Given the description of an element on the screen output the (x, y) to click on. 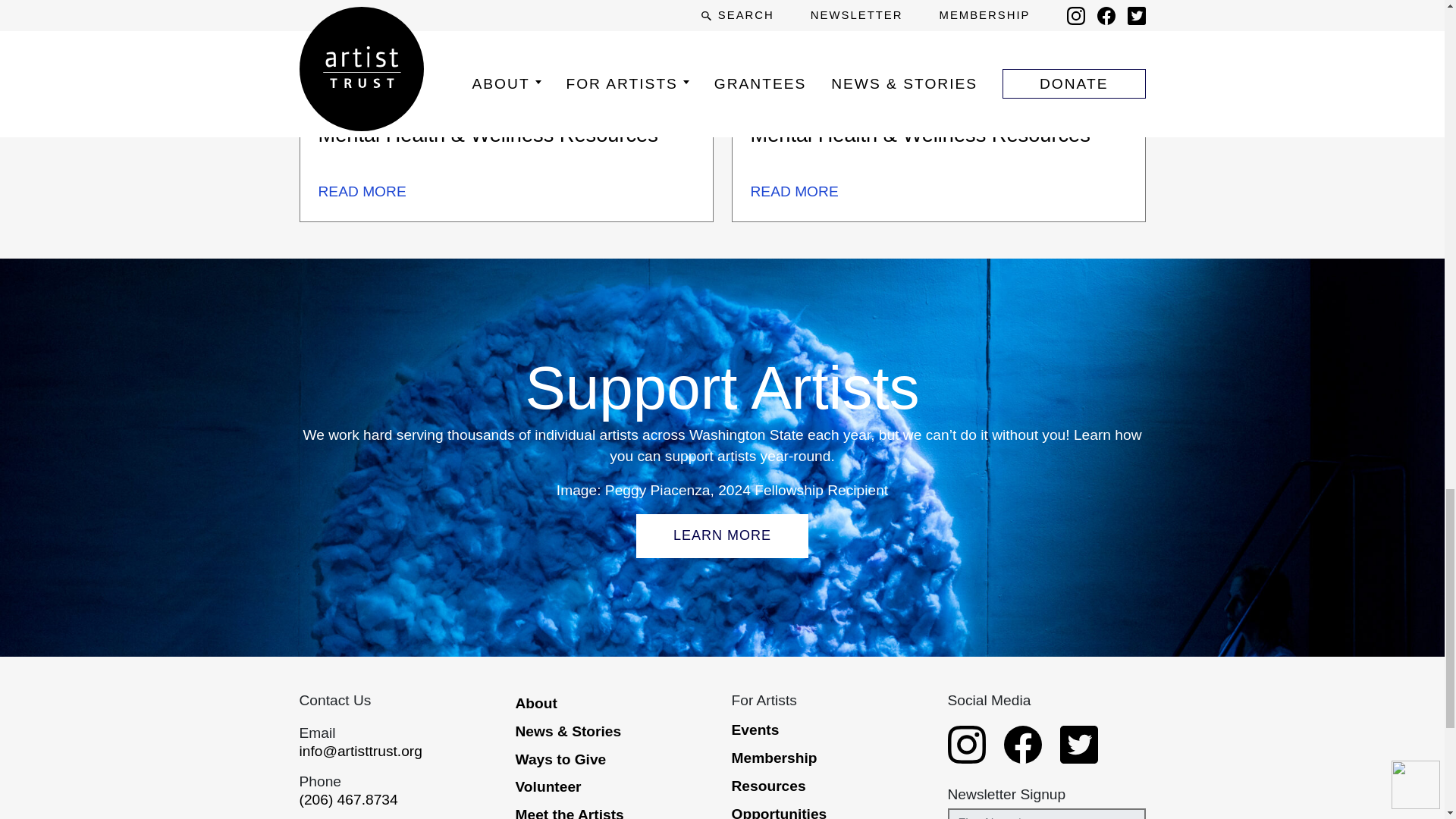
MentalHealthResourcesOctober (938, 53)
READ MORE (362, 191)
MentalHealthResourcesOctober (506, 53)
